Given the description of an element on the screen output the (x, y) to click on. 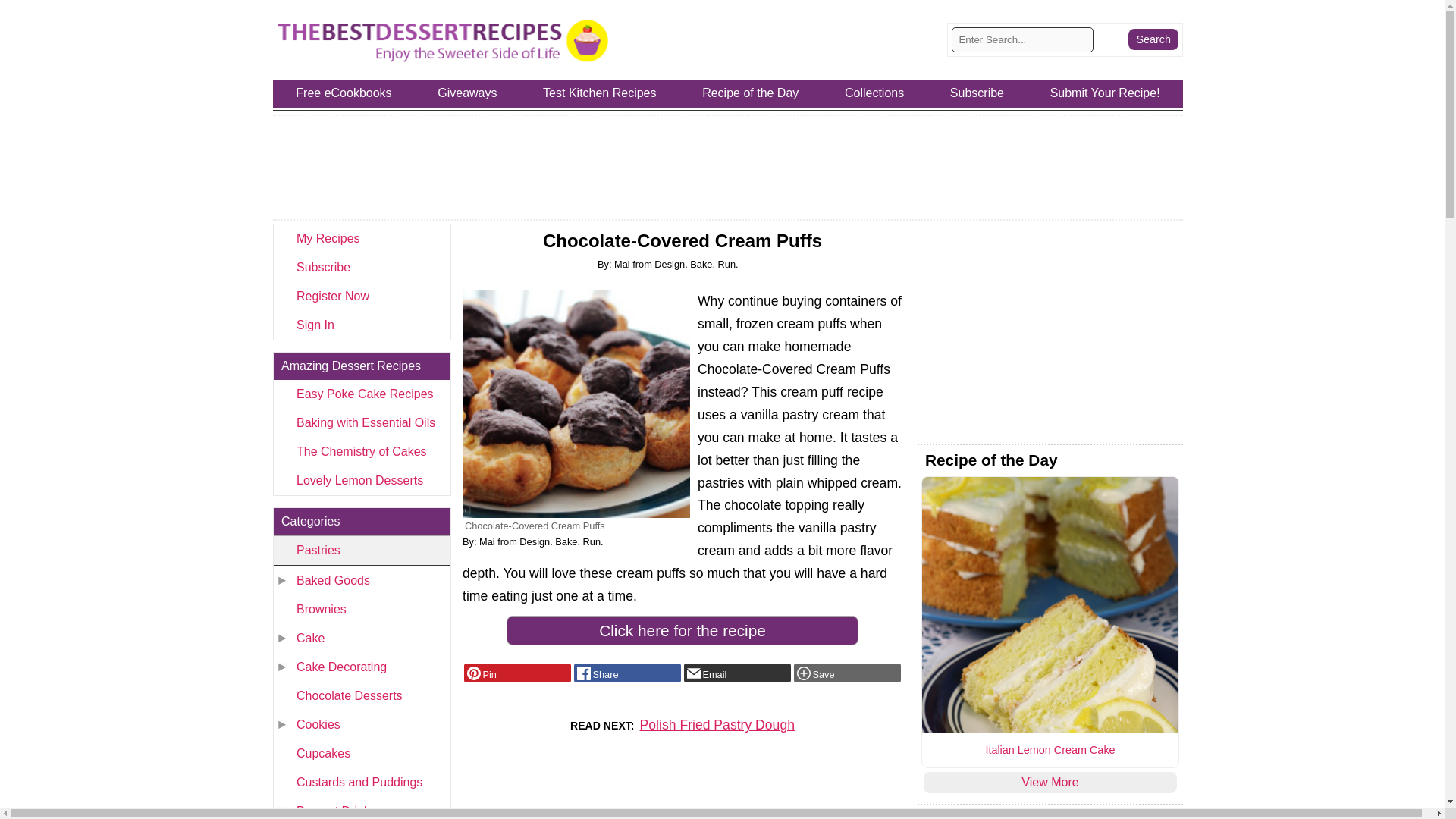
Chocolate-Covered Cream Puffs (576, 403)
Email (737, 673)
Add (847, 673)
Subscribe (361, 267)
Search (1152, 38)
Register Now (361, 296)
My Recipes (361, 238)
Facebook (627, 673)
Sign In (361, 325)
